Given the description of an element on the screen output the (x, y) to click on. 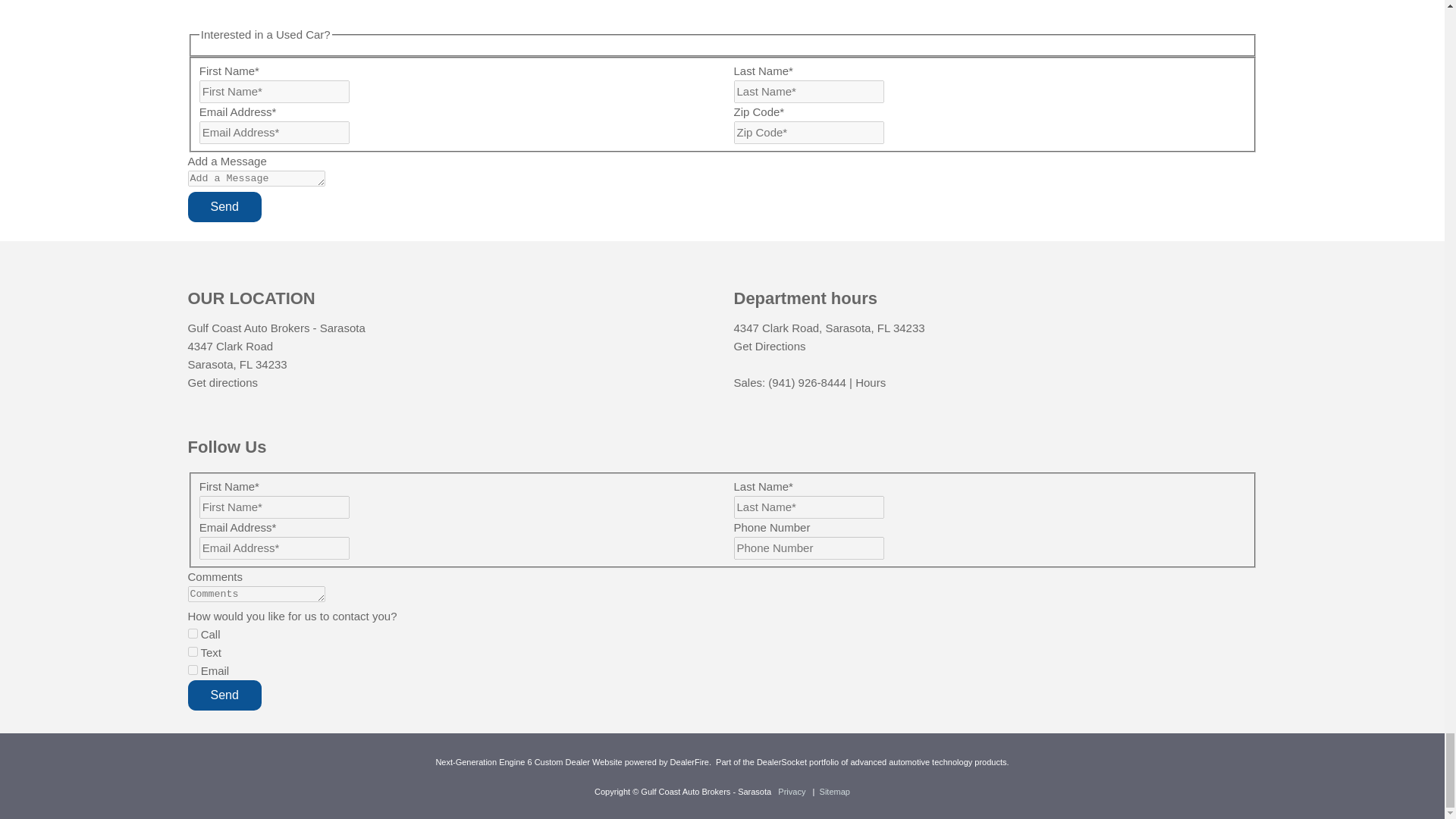
Text (192, 651)
Call (192, 633)
Email (192, 669)
